Given the description of an element on the screen output the (x, y) to click on. 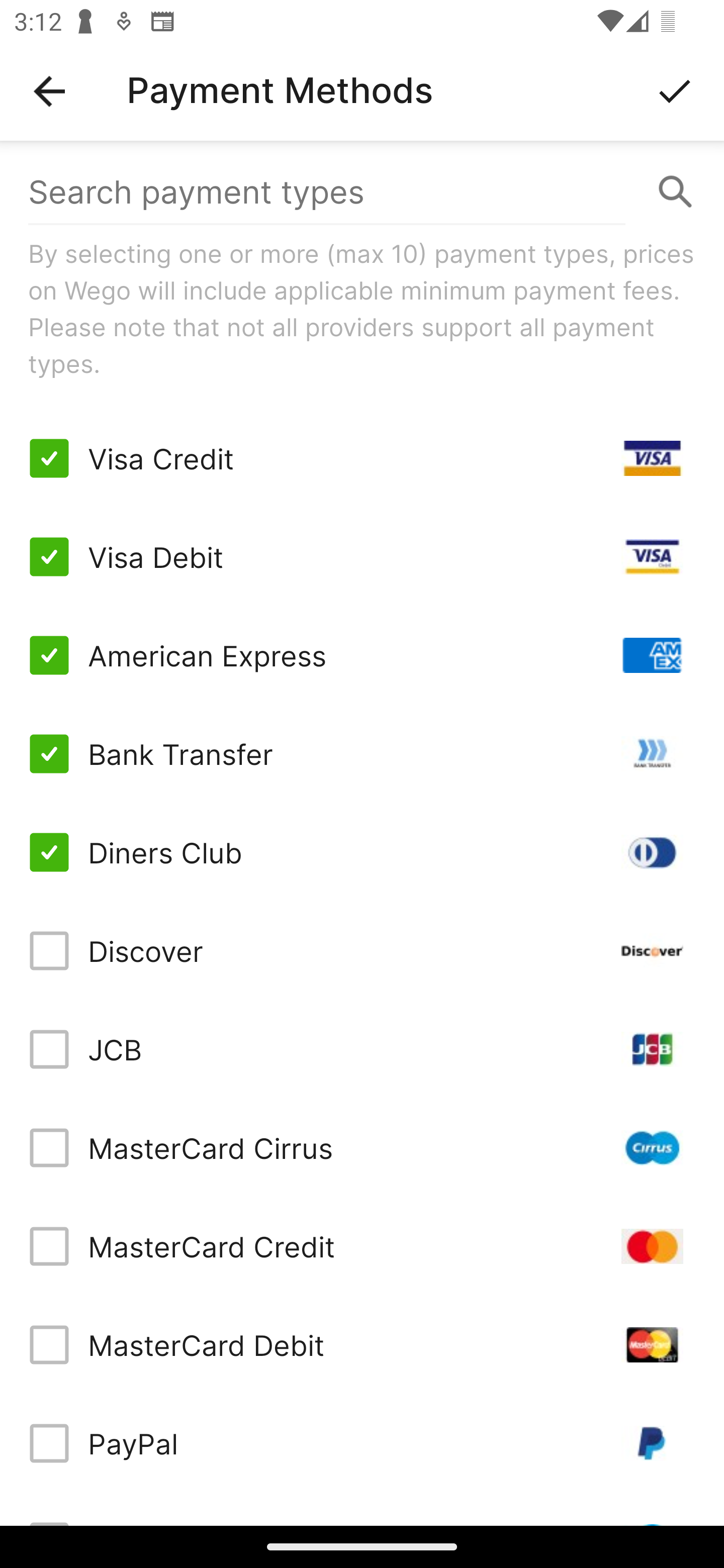
Search payment types  (361, 191)
Visa Credit (362, 458)
Visa Debit (362, 557)
American Express (362, 655)
Bank Transfer (362, 753)
Diners Club (362, 851)
Discover (362, 950)
JCB (362, 1049)
MasterCard Cirrus (362, 1147)
MasterCard Credit (362, 1245)
MasterCard Debit (362, 1344)
PayPal (362, 1442)
